Given the description of an element on the screen output the (x, y) to click on. 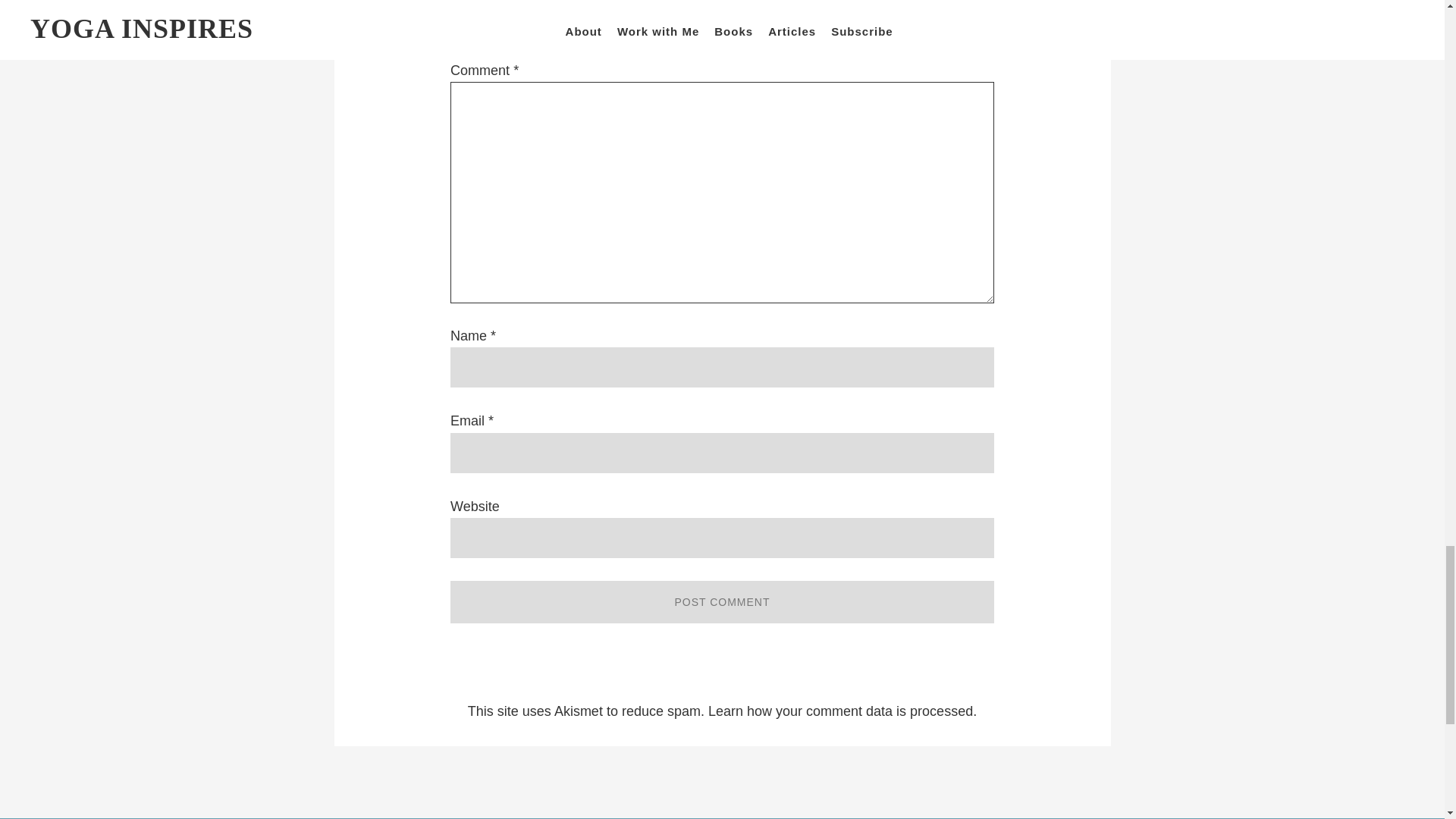
Post Comment (721, 601)
